Given the description of an element on the screen output the (x, y) to click on. 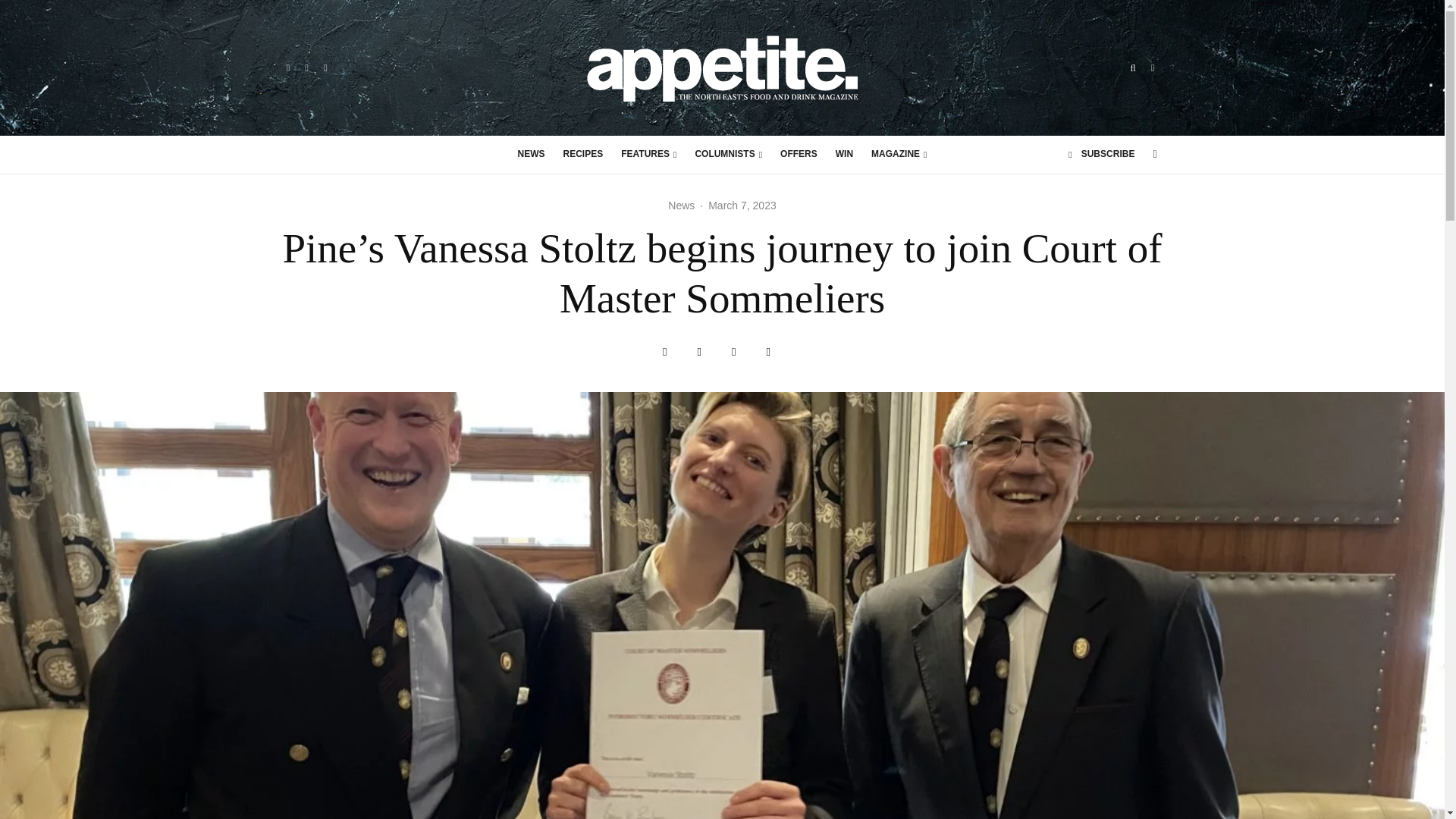
RECIPES (583, 154)
FEATURES (648, 154)
NEWS (531, 154)
